Given the description of an element on the screen output the (x, y) to click on. 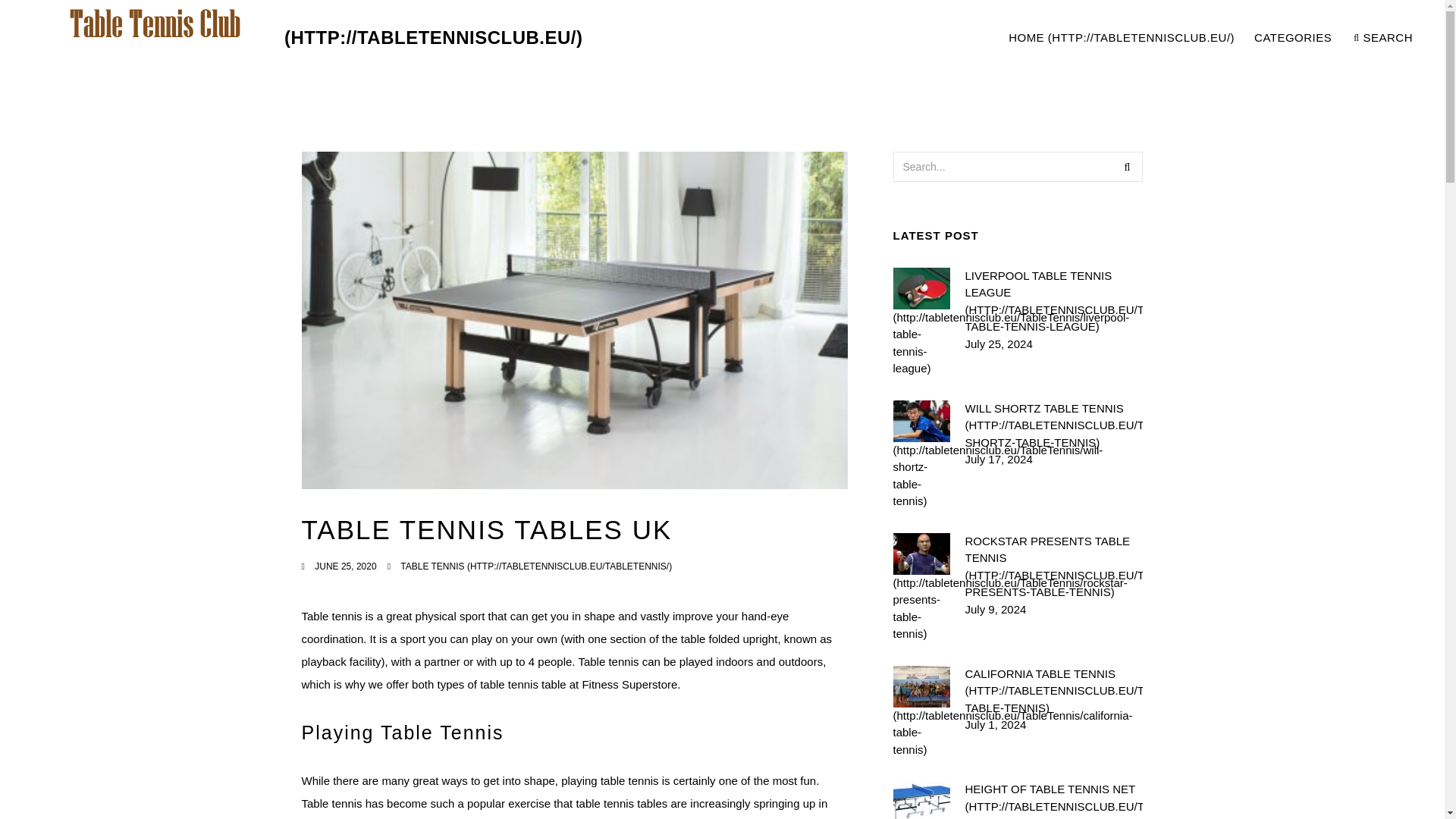
ROCKSTAR PRESENTS TABLE TENNIS (1052, 566)
TABLE TENNIS (535, 566)
HEIGHT OF TABLE TENNIS NET (1052, 800)
SEARCH (1382, 38)
HOME (1120, 38)
CALIFORNIA TABLE TENNIS (1052, 691)
LIVERPOOL TABLE TENNIS LEAGUE (1052, 300)
Search (1126, 166)
CATEGORIES (1209, 38)
Table Tennis Club (1293, 38)
WILL SHORTZ TABLE TENNIS (303, 38)
